Given the description of an element on the screen output the (x, y) to click on. 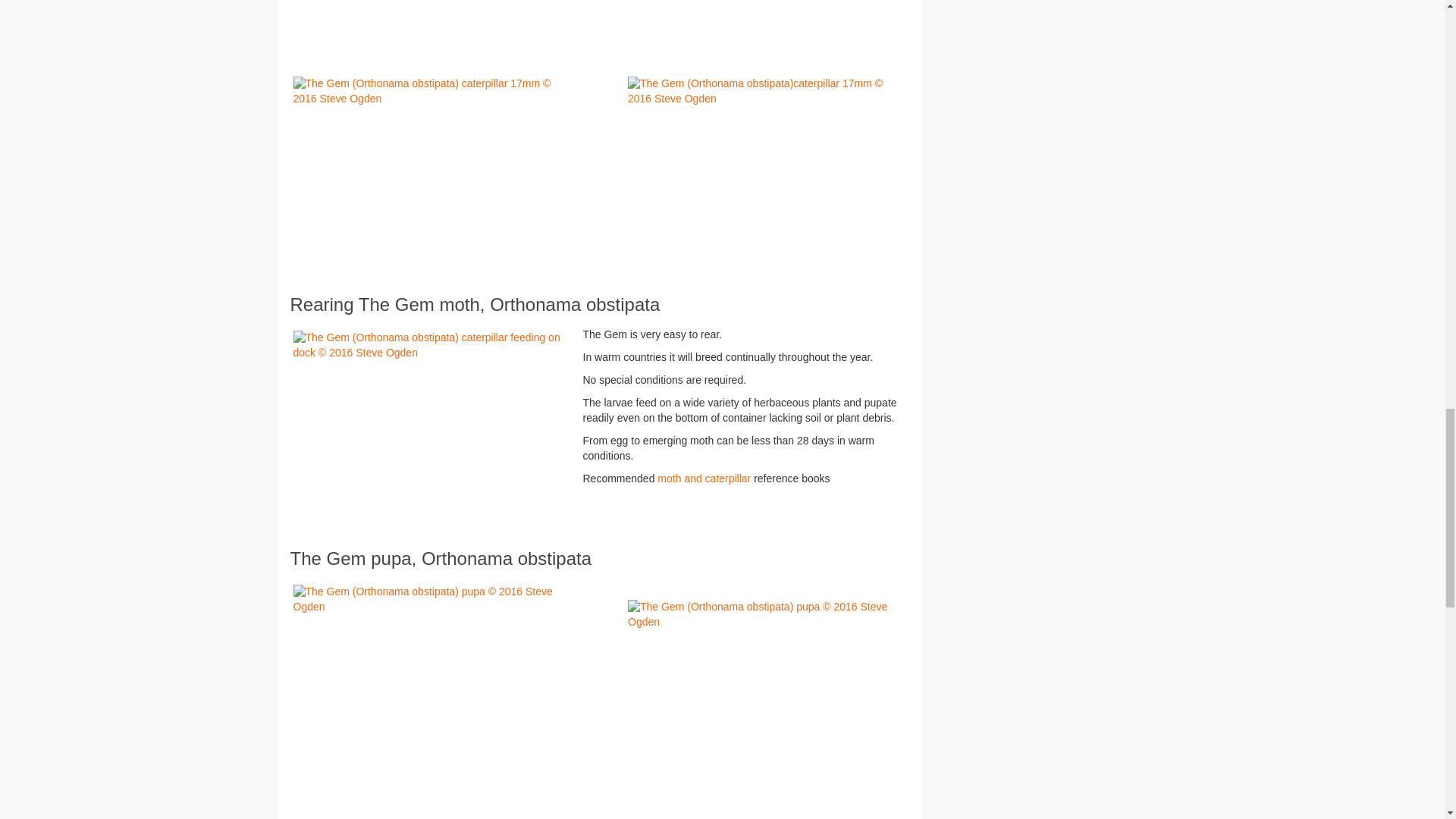
Advertisement (599, 814)
